Given the description of an element on the screen output the (x, y) to click on. 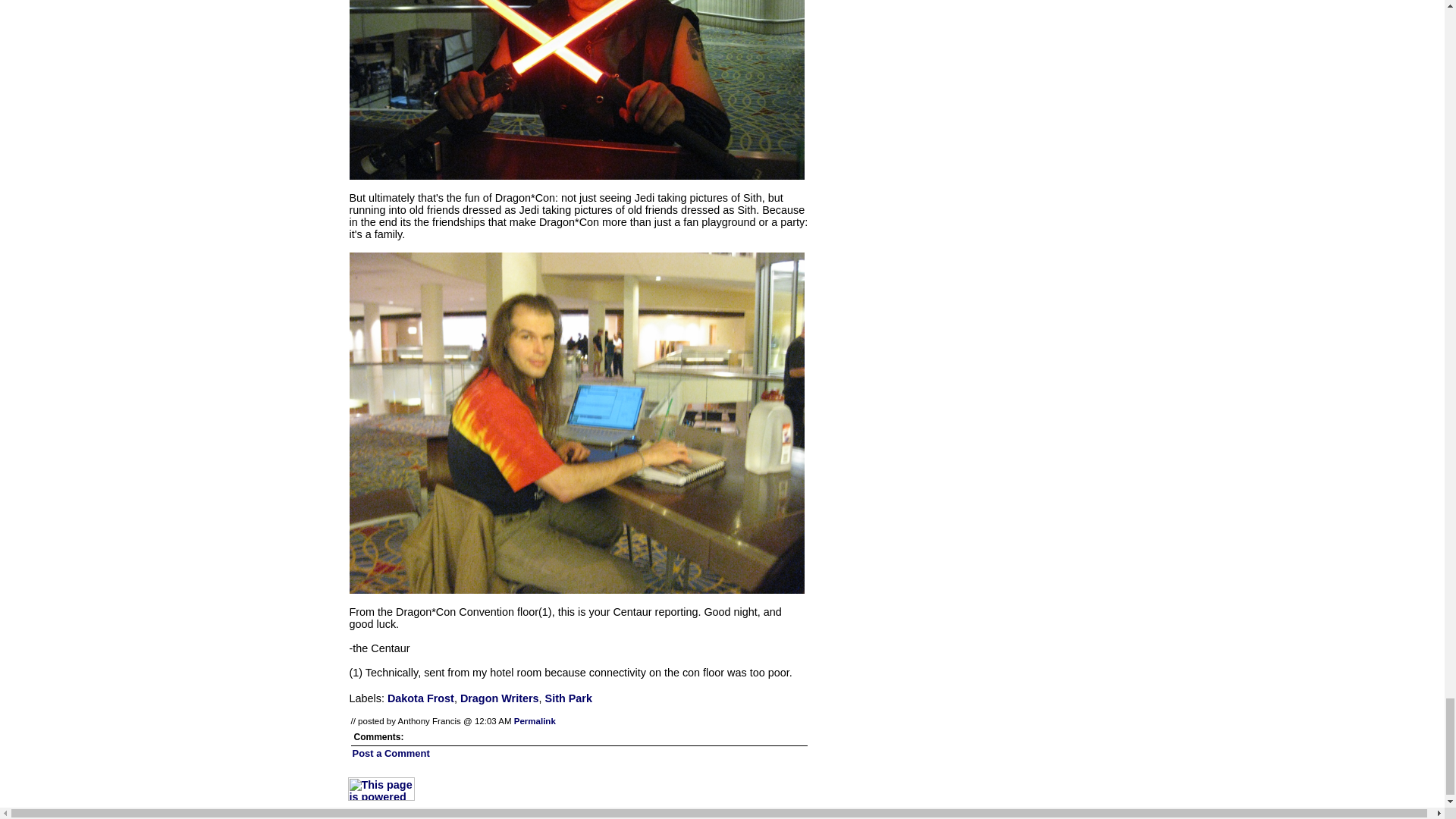
Post a Comment (390, 753)
Sith Park (568, 698)
permanent link (534, 720)
Dragon Writers (499, 698)
Permalink (534, 720)
Dakota Frost (420, 698)
